Given the description of an element on the screen output the (x, y) to click on. 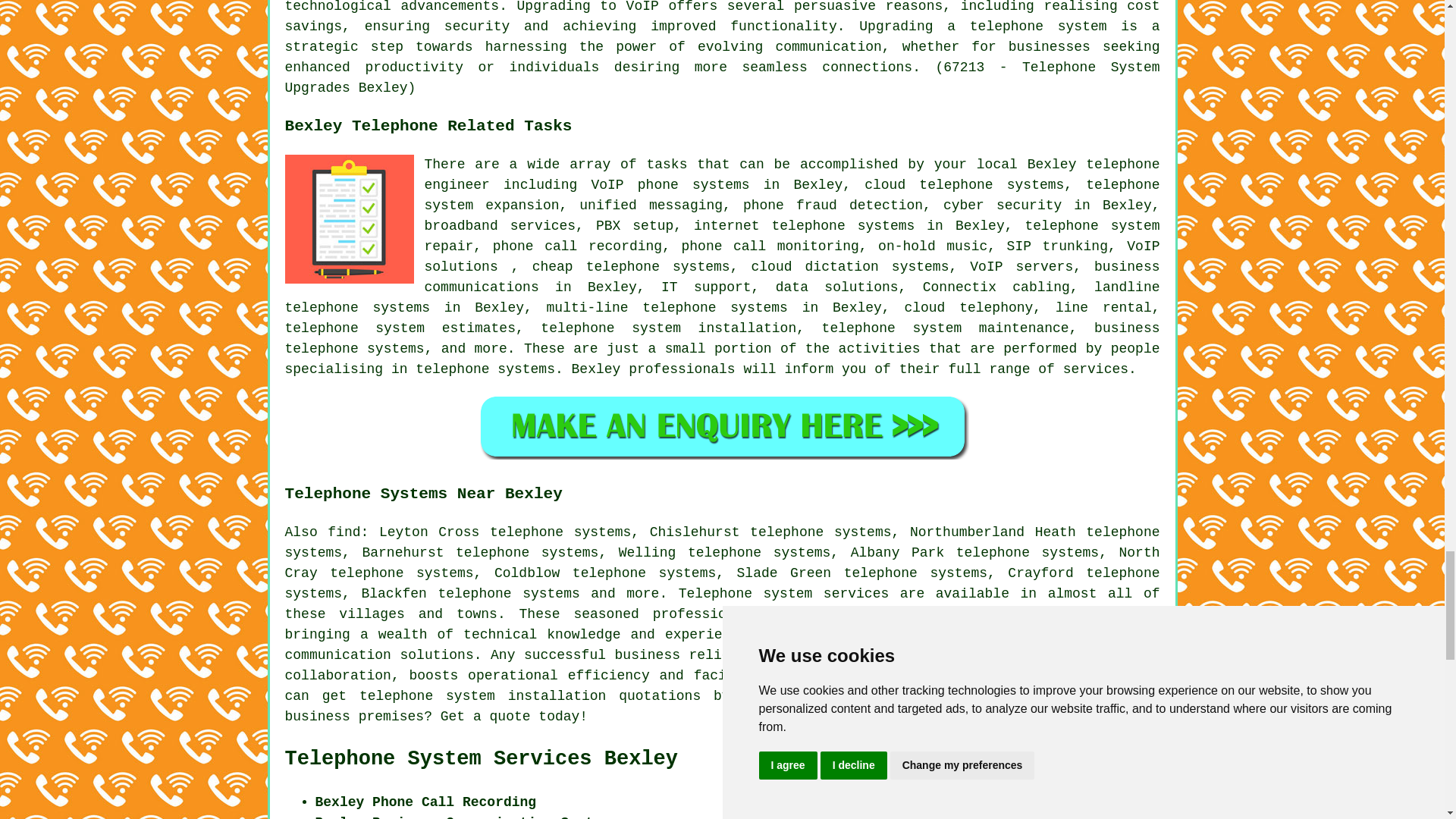
cheap telephone systems (631, 266)
BEXLEY 020 SYSTEMS QUOTES (722, 426)
Telephone Related Tasks Bexley (349, 218)
business telephone systems (722, 338)
